Given the description of an element on the screen output the (x, y) to click on. 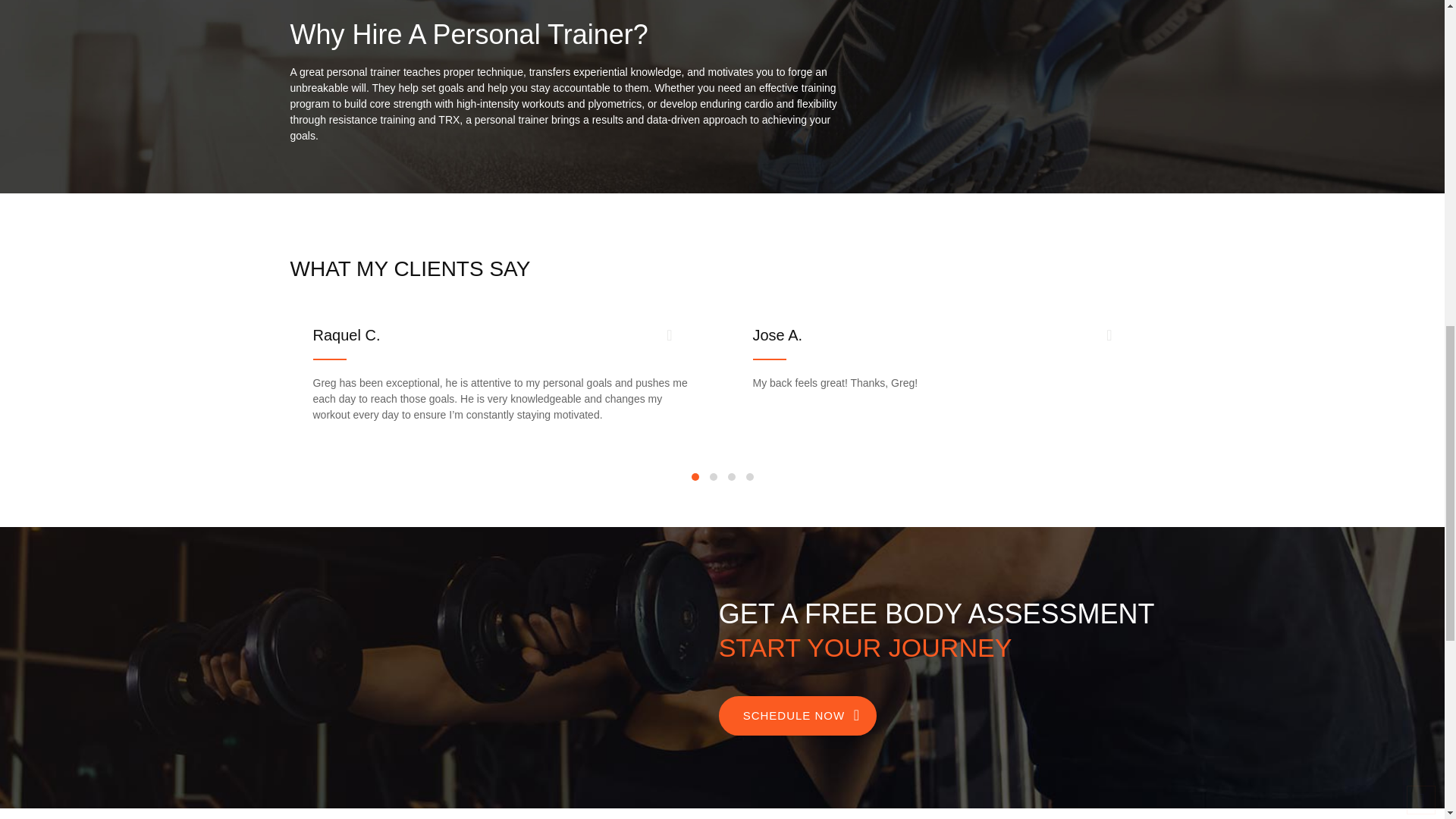
SCHEDULE NOW (798, 715)
